Given the description of an element on the screen output the (x, y) to click on. 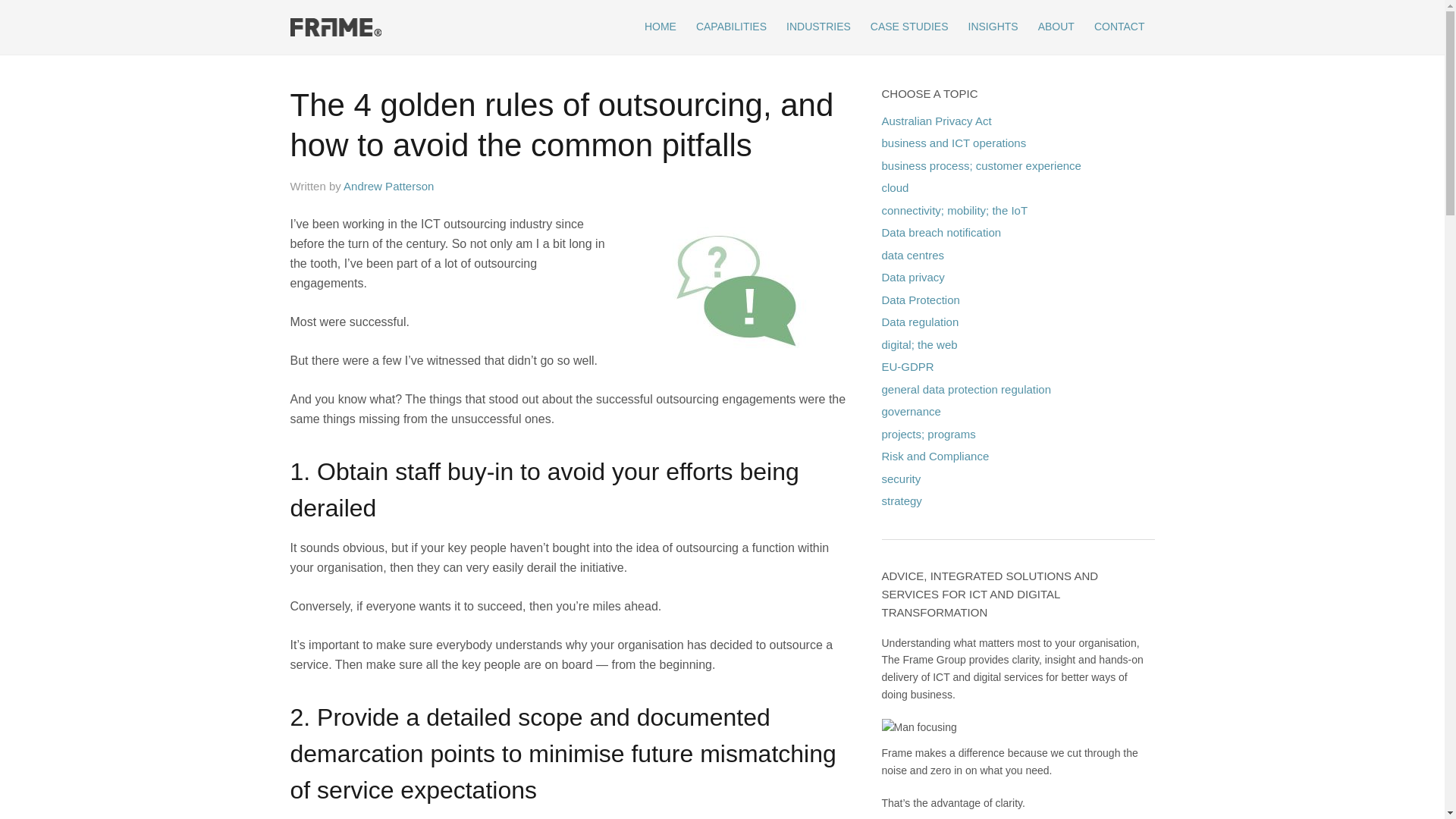
Data privacy Element type: text (912, 276)
projects; programs Element type: text (928, 433)
CONTACT Element type: text (1119, 26)
digital; the web Element type: text (919, 344)
Australian Privacy Act Element type: text (936, 119)
governance Element type: text (910, 410)
EU-GDPR Element type: text (907, 366)
HOME Element type: text (660, 26)
business and ICT operations Element type: text (953, 142)
CAPABILITIES Element type: text (731, 26)
INDUSTRIES Element type: text (818, 26)
The Frame Group Element type: text (425, 29)
INSIGHTS Element type: text (993, 26)
general data protection regulation Element type: text (966, 388)
Data breach notification Element type: text (941, 231)
data centres Element type: text (912, 254)
strategy Element type: text (901, 500)
Risk and Compliance Element type: text (934, 455)
Data Protection Element type: text (920, 298)
business process; customer experience Element type: text (980, 165)
connectivity; mobility; the IoT Element type: text (954, 209)
Data regulation Element type: text (919, 321)
ABOUT Element type: text (1056, 26)
Andrew Patterson Element type: text (388, 185)
security Element type: text (900, 477)
CASE STUDIES Element type: text (909, 26)
cloud Element type: text (894, 187)
